Given the description of an element on the screen output the (x, y) to click on. 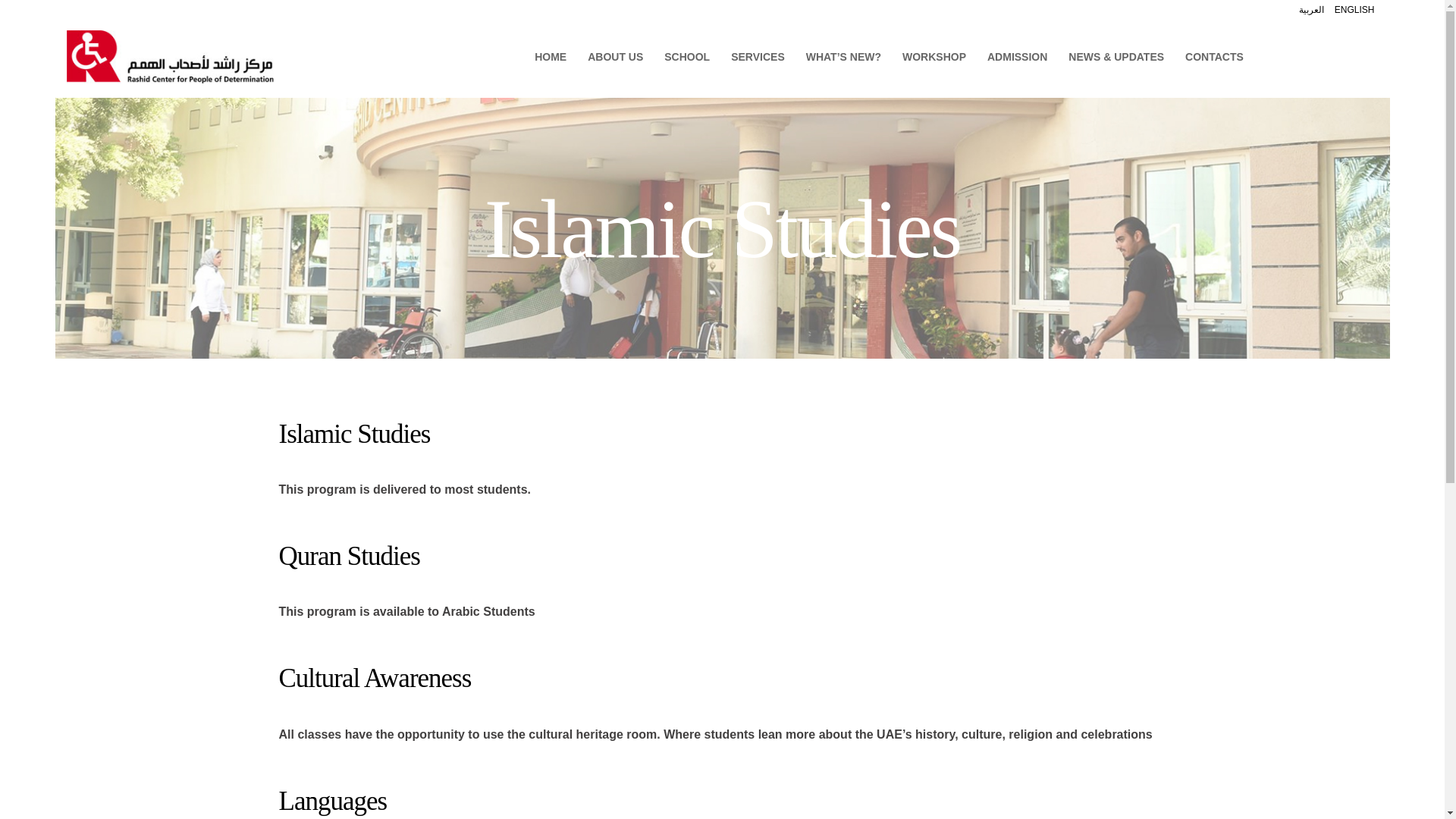
HOME (550, 56)
WORKSHOP (933, 56)
ADMISSION (1017, 56)
SERVICES (757, 56)
SCHOOL (686, 56)
ABOUT US (614, 56)
ENGLISH (1354, 9)
